Given the description of an element on the screen output the (x, y) to click on. 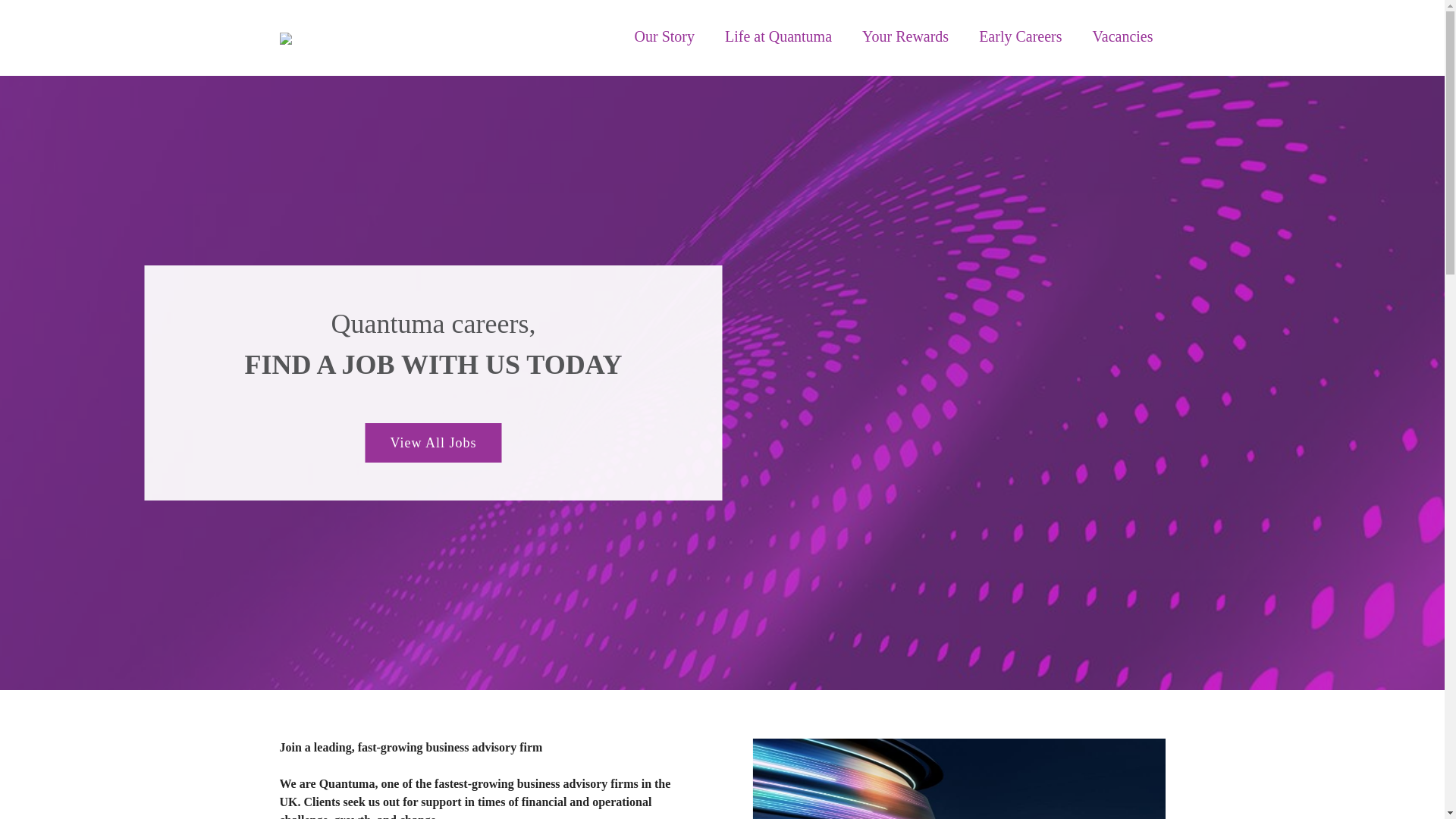
Our Story (664, 36)
Vacancies (1123, 36)
View All Jobs (433, 442)
Early Careers (1019, 36)
Life at Quantuma (778, 36)
Your Rewards (905, 36)
